Given the description of an element on the screen output the (x, y) to click on. 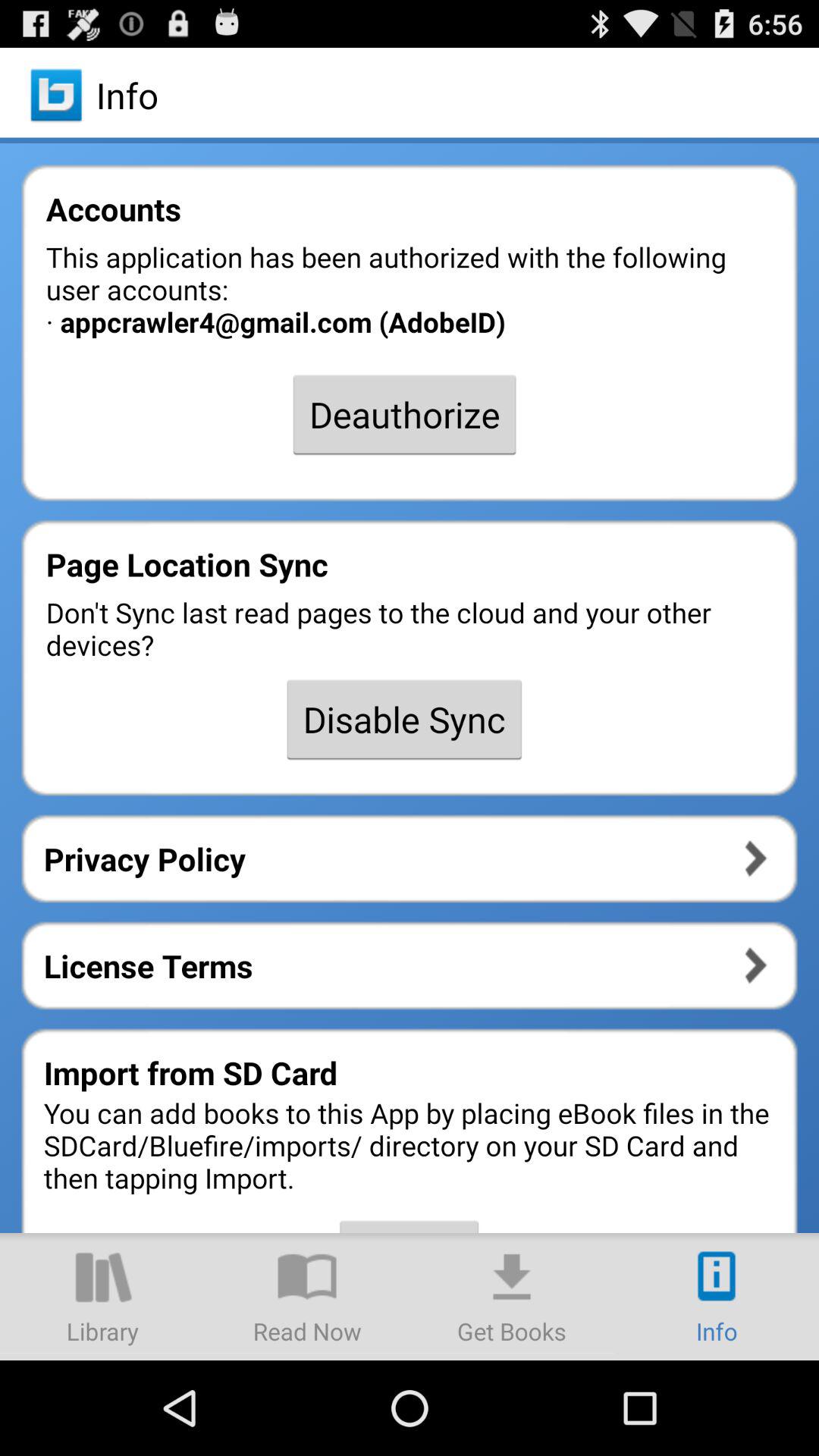
show the books downloaded (511, 1296)
